Given the description of an element on the screen output the (x, y) to click on. 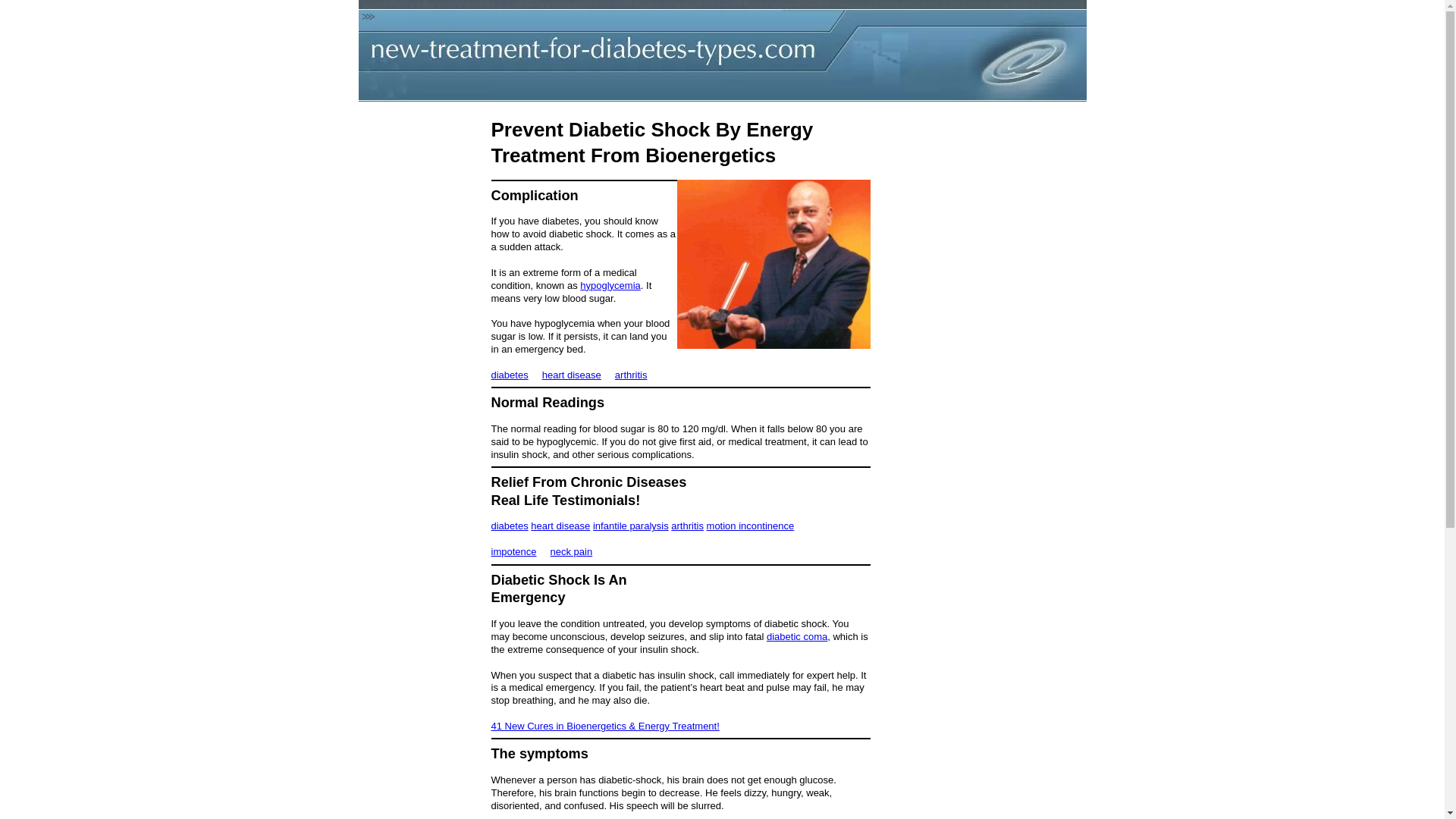
heart disease (560, 525)
arthritis (630, 374)
impotence (514, 551)
diabetes (510, 525)
diabetes (510, 374)
motion incontinence (750, 525)
infantile paralysis (630, 525)
hypoglycemia (609, 285)
arthritis (687, 525)
heart disease (571, 374)
